Given the description of an element on the screen output the (x, y) to click on. 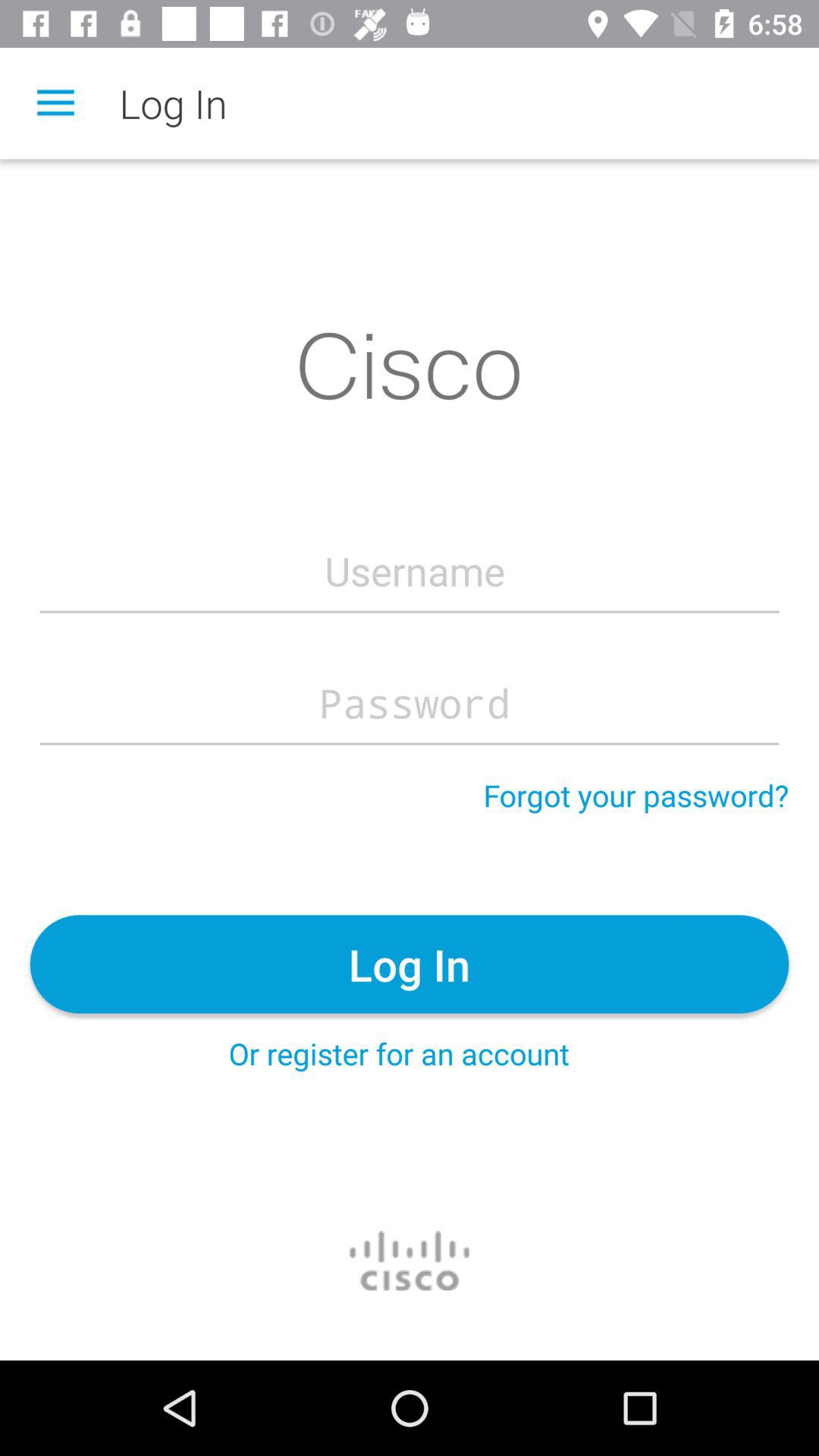
press or register for (398, 1053)
